Given the description of an element on the screen output the (x, y) to click on. 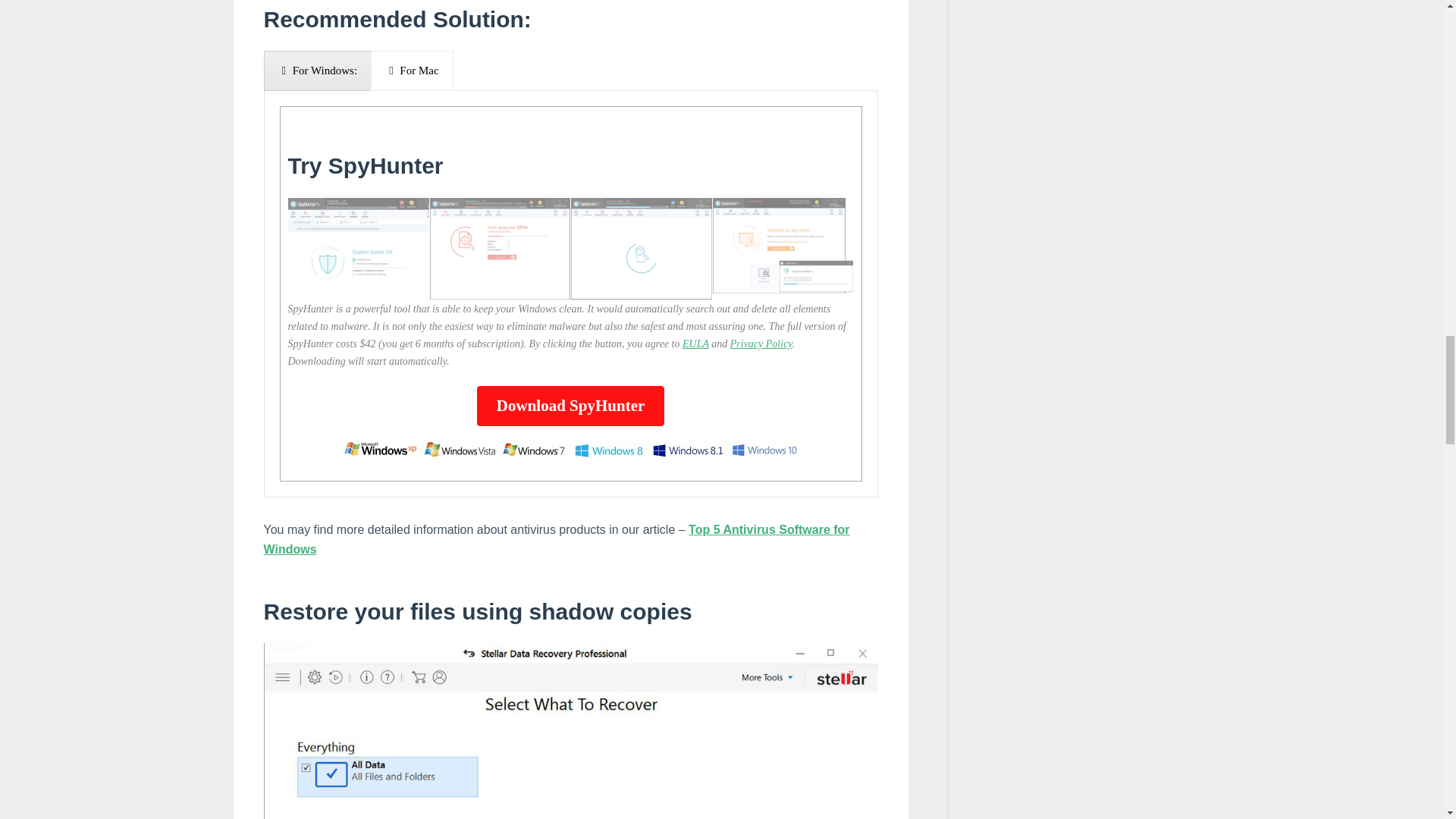
Download SpyHunter (570, 405)
Privacy Policy (761, 343)
For Windows: (317, 70)
EULA (695, 343)
Download SpyHunter (570, 405)
For Mac (411, 70)
